Given the description of an element on the screen output the (x, y) to click on. 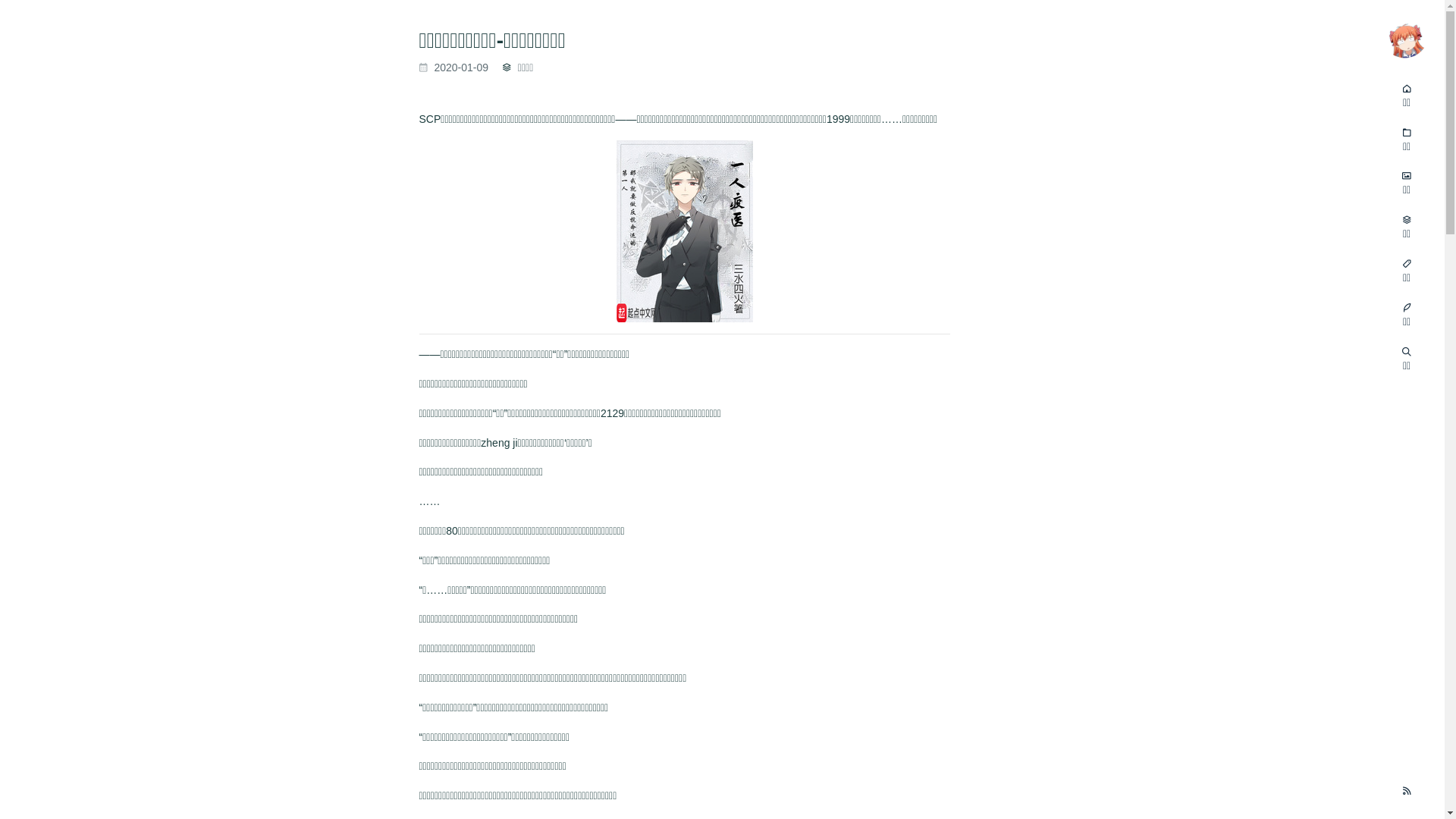
RSS Feed Element type: hover (1406, 791)
2020-01-09 Element type: text (454, 67)
